Given the description of an element on the screen output the (x, y) to click on. 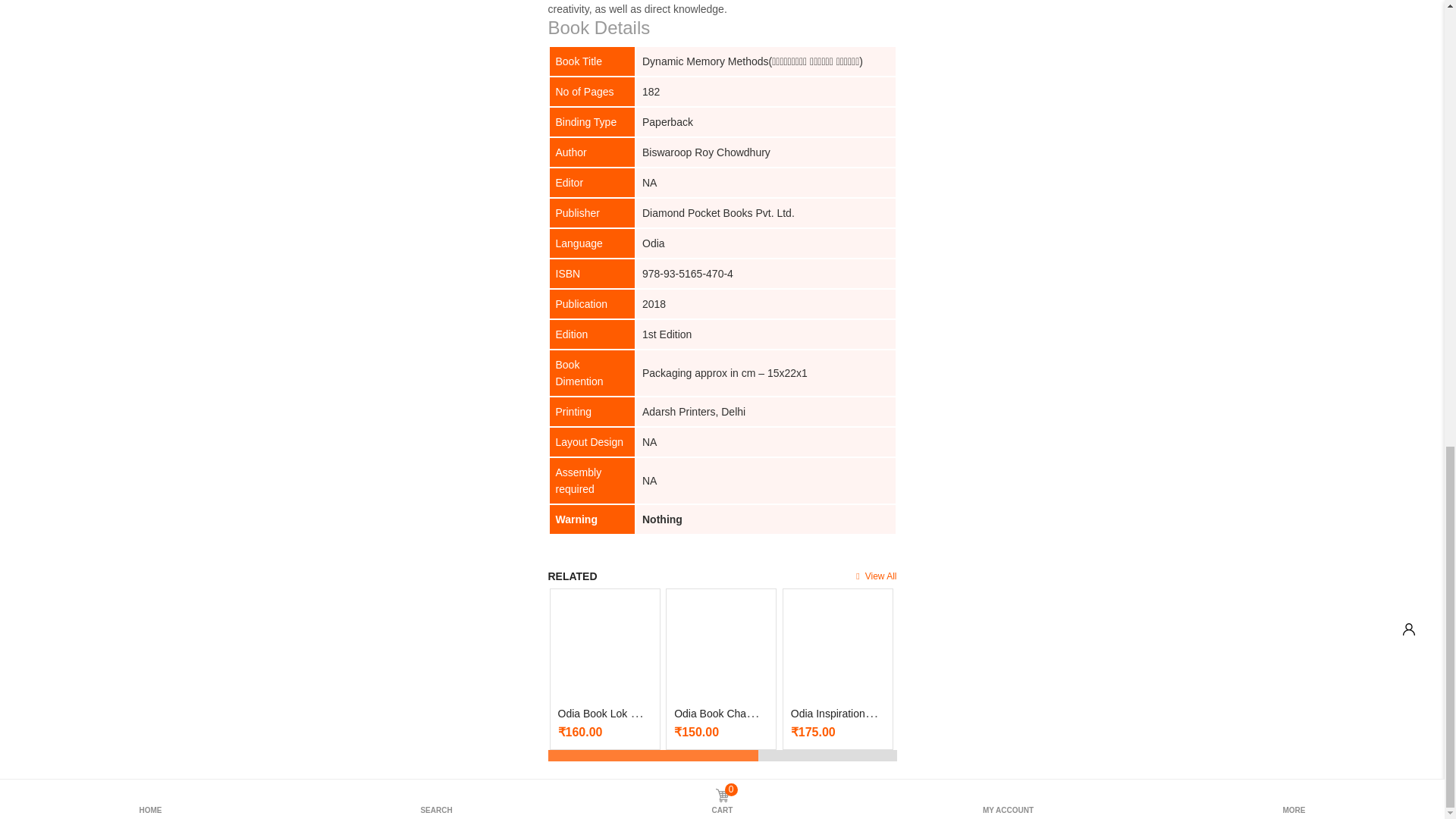
Odia Book Lok Vyavhar By Dale Carnegie From OdishaShop (700, 712)
Odia Book Lok Vyavhar By Dale Carnegie From OdishaShop (604, 643)
